Given the description of an element on the screen output the (x, y) to click on. 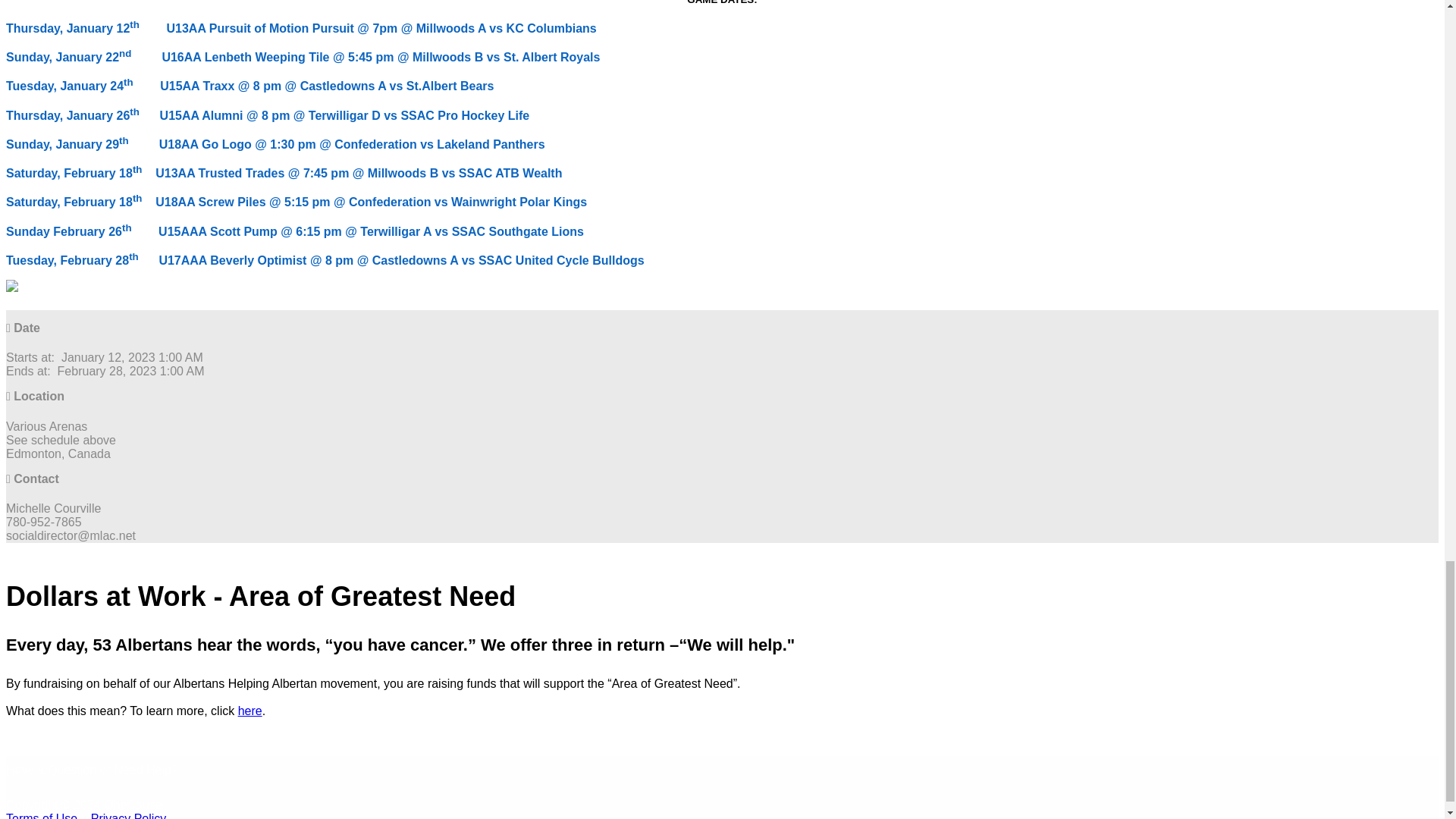
Have a Question or Need Help? (91, 769)
here (250, 710)
